Given the description of an element on the screen output the (x, y) to click on. 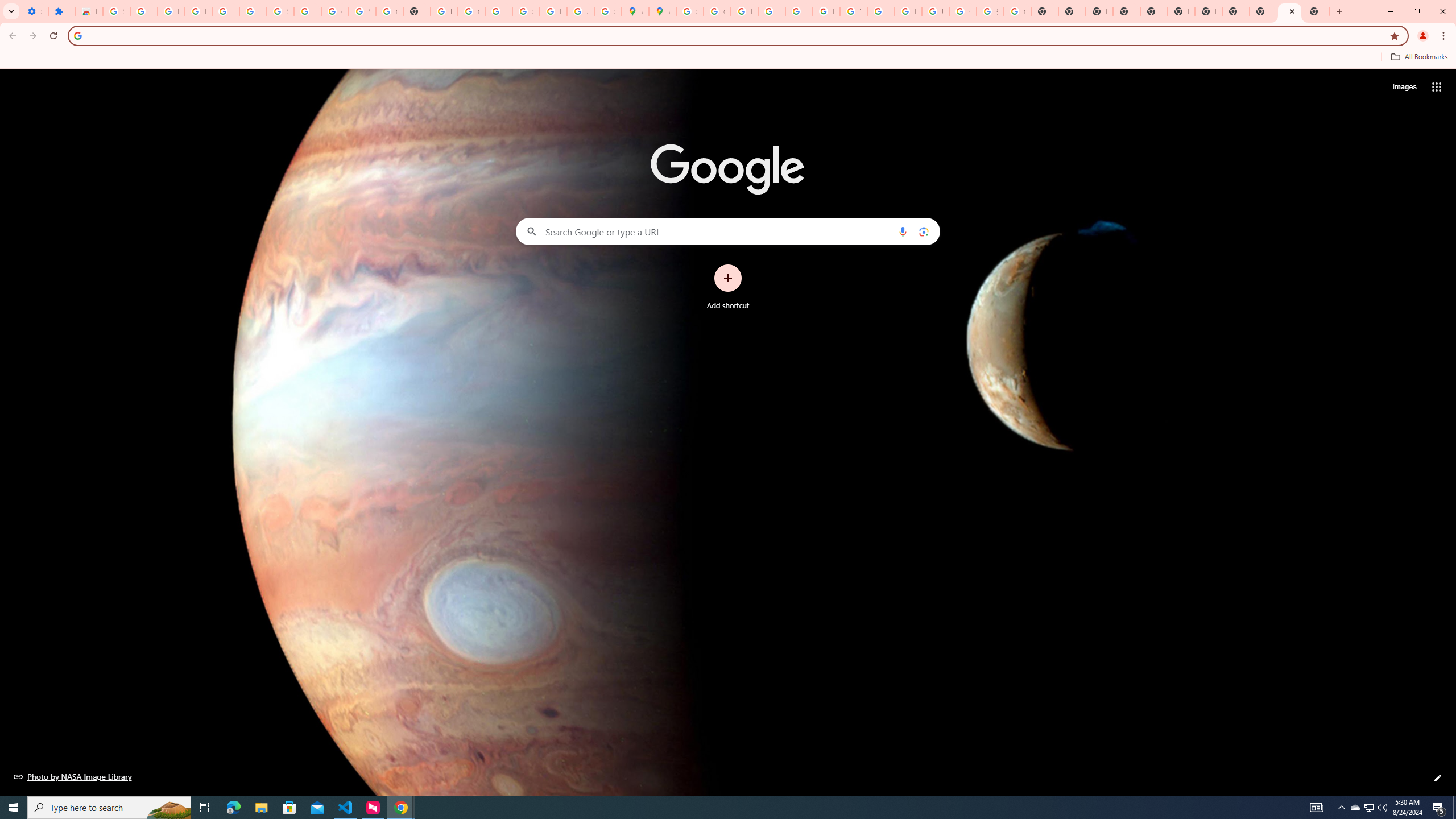
Google Account (334, 11)
Privacy Help Center - Policies Help (743, 11)
Safety in Our Products - Google Safety Center (607, 11)
New Tab (1126, 11)
Learn how to find your photos - Google Photos Help (225, 11)
